Given the description of an element on the screen output the (x, y) to click on. 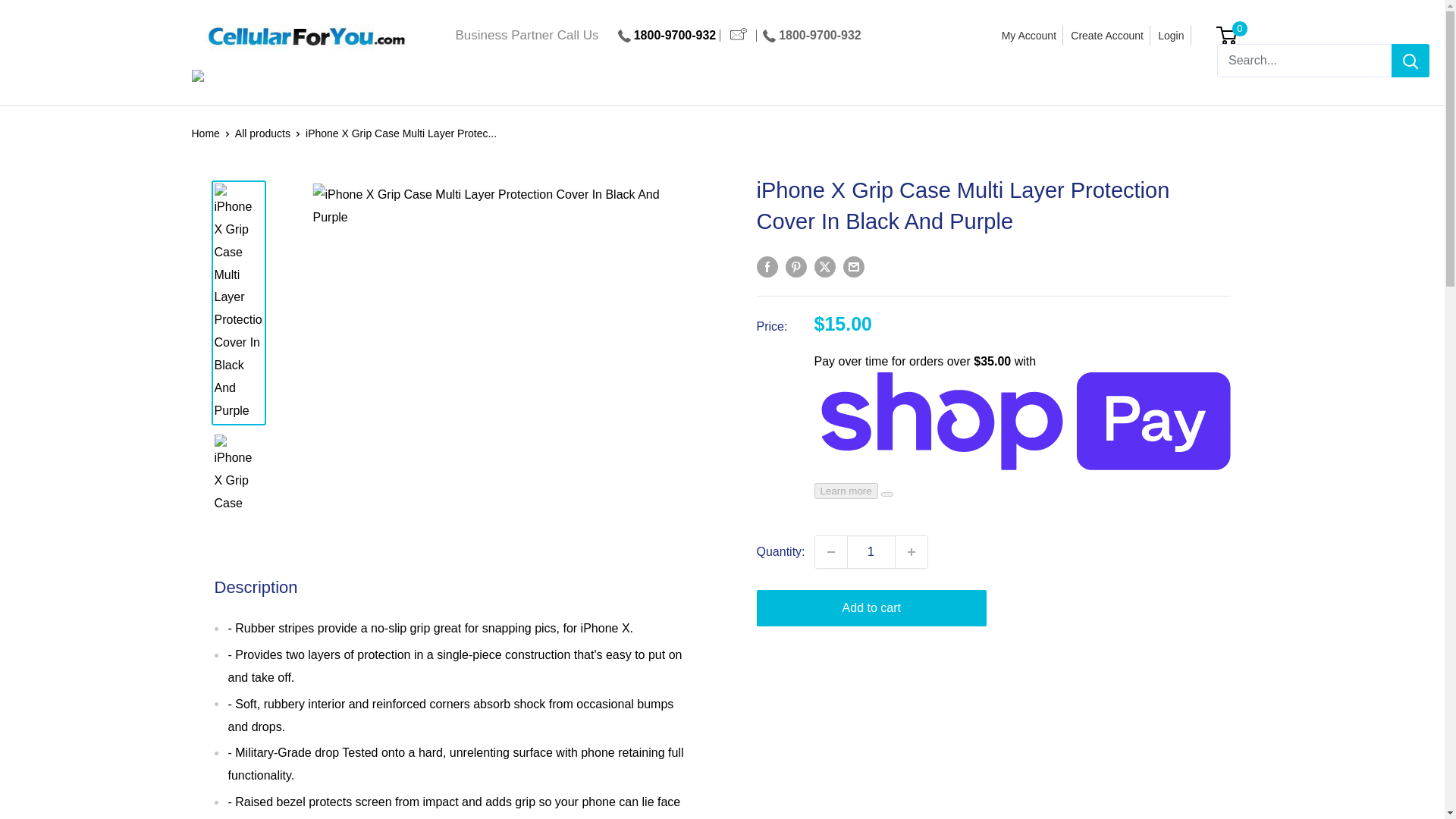
Login (1171, 35)
1 (871, 552)
My Account (1028, 35)
Create Account (1107, 35)
Increase quantity by 1 (911, 552)
0 (1235, 35)
1800-9700-932 (818, 34)
Decrease quantity by 1 (831, 552)
1800-9700-932 (674, 34)
Cellular For You (304, 35)
